Given the description of an element on the screen output the (x, y) to click on. 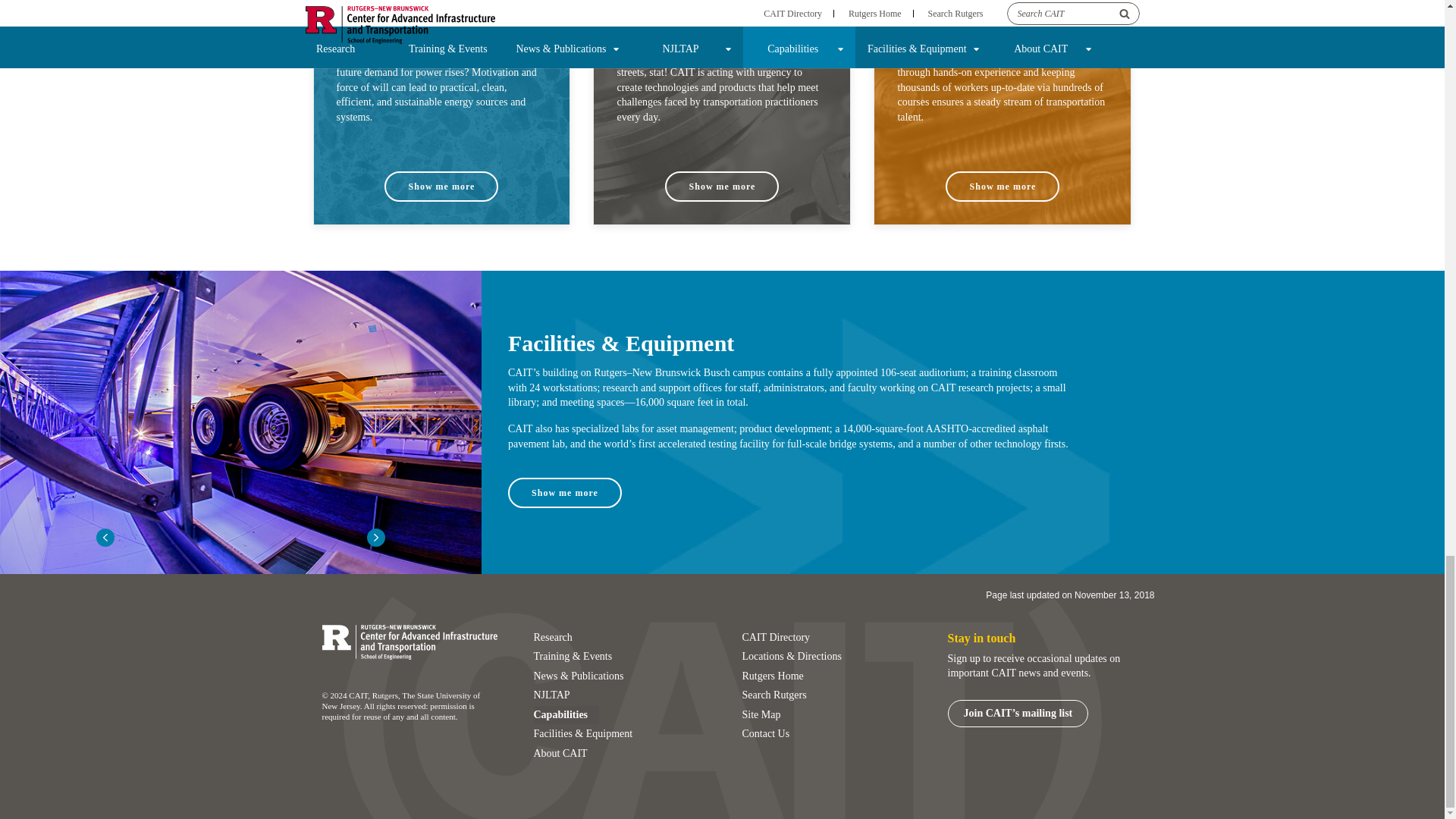
Show me more (721, 186)
Show me more (1001, 186)
Show me more (440, 186)
Join CAIT's mailing list (1018, 713)
Show me more (564, 492)
